Given the description of an element on the screen output the (x, y) to click on. 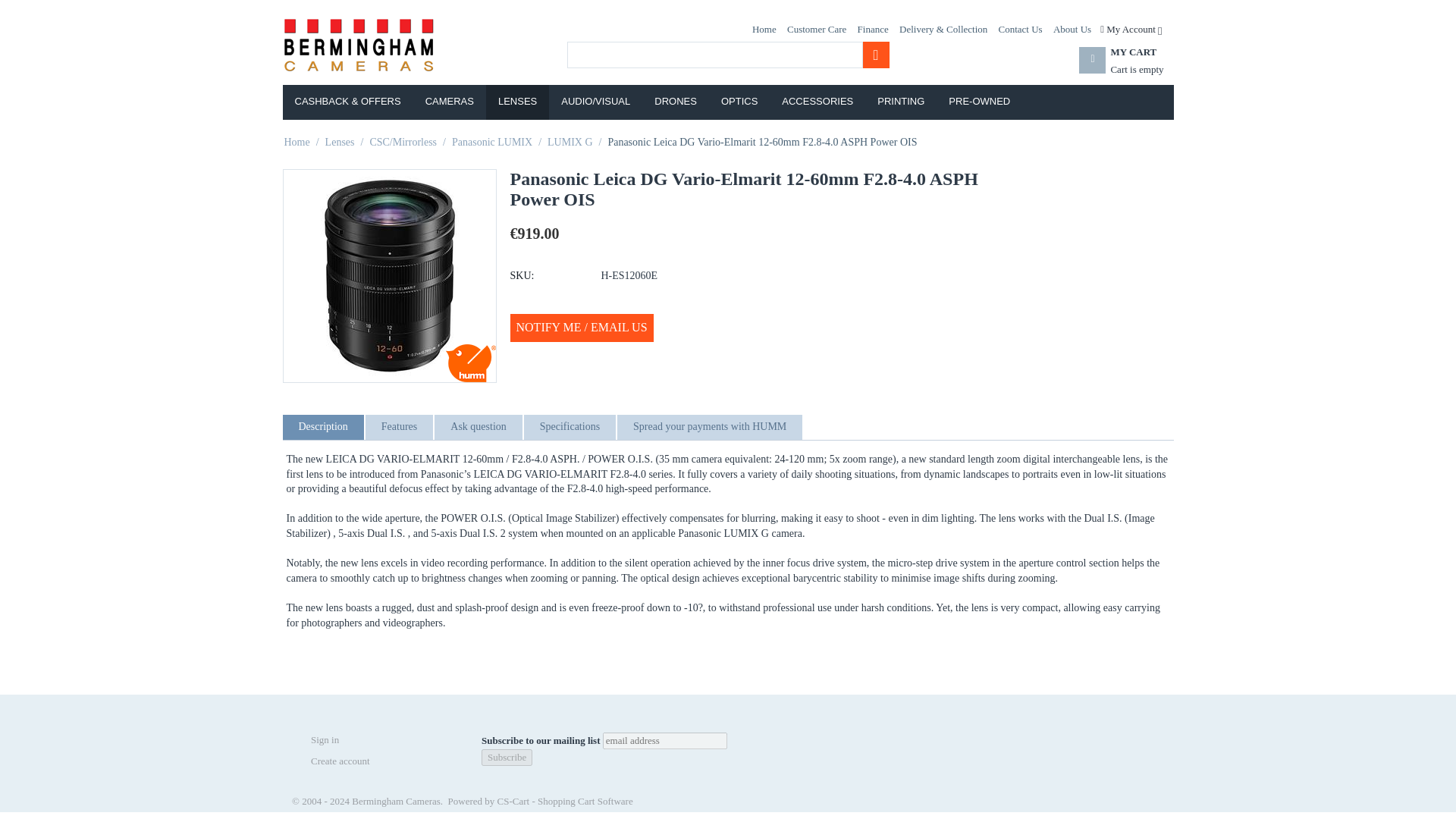
Contact Us (1020, 29)
CAMERAS (449, 102)
Search (876, 54)
Subscribe (506, 757)
Home (764, 29)
My Account (1130, 29)
Search products (715, 54)
Customer Care (816, 29)
Bermingham Cameras Logo (357, 44)
About Us (1071, 29)
Bermingham Cameras Logo (357, 43)
Finance (1134, 69)
